Given the description of an element on the screen output the (x, y) to click on. 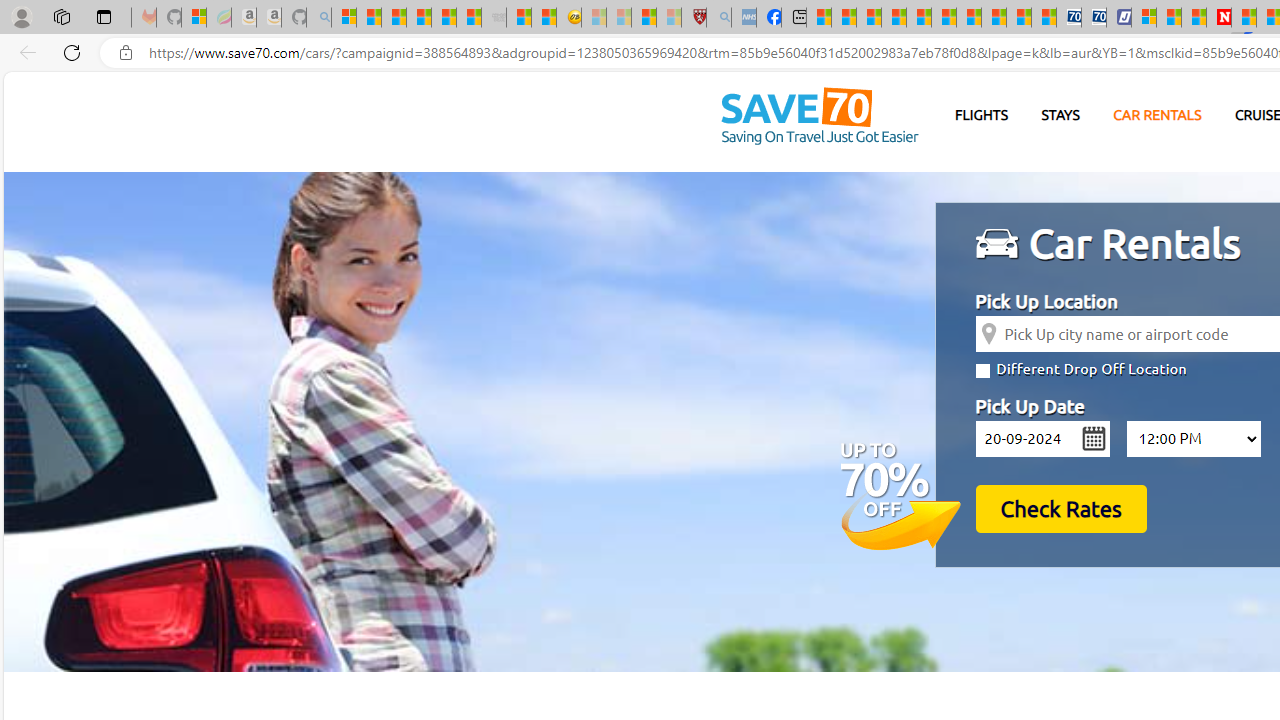
Science - MSN (644, 17)
Personal Profile (21, 16)
To get missing image descriptions, open the context menu. (1000, 243)
CAR RENTALS (1157, 115)
Newsweek - News, Analysis, Politics, Business, Technology (1219, 17)
Cheap Car Rentals - Save70.com (1069, 17)
mm/dd/yy (1042, 438)
New Report Confirms 2023 Was Record Hot | Watch (443, 17)
Stocks - MSN (469, 17)
Back (24, 52)
Homepage (819, 116)
Robert H. Shmerling, MD - Harvard Health (694, 17)
